Given the description of an element on the screen output the (x, y) to click on. 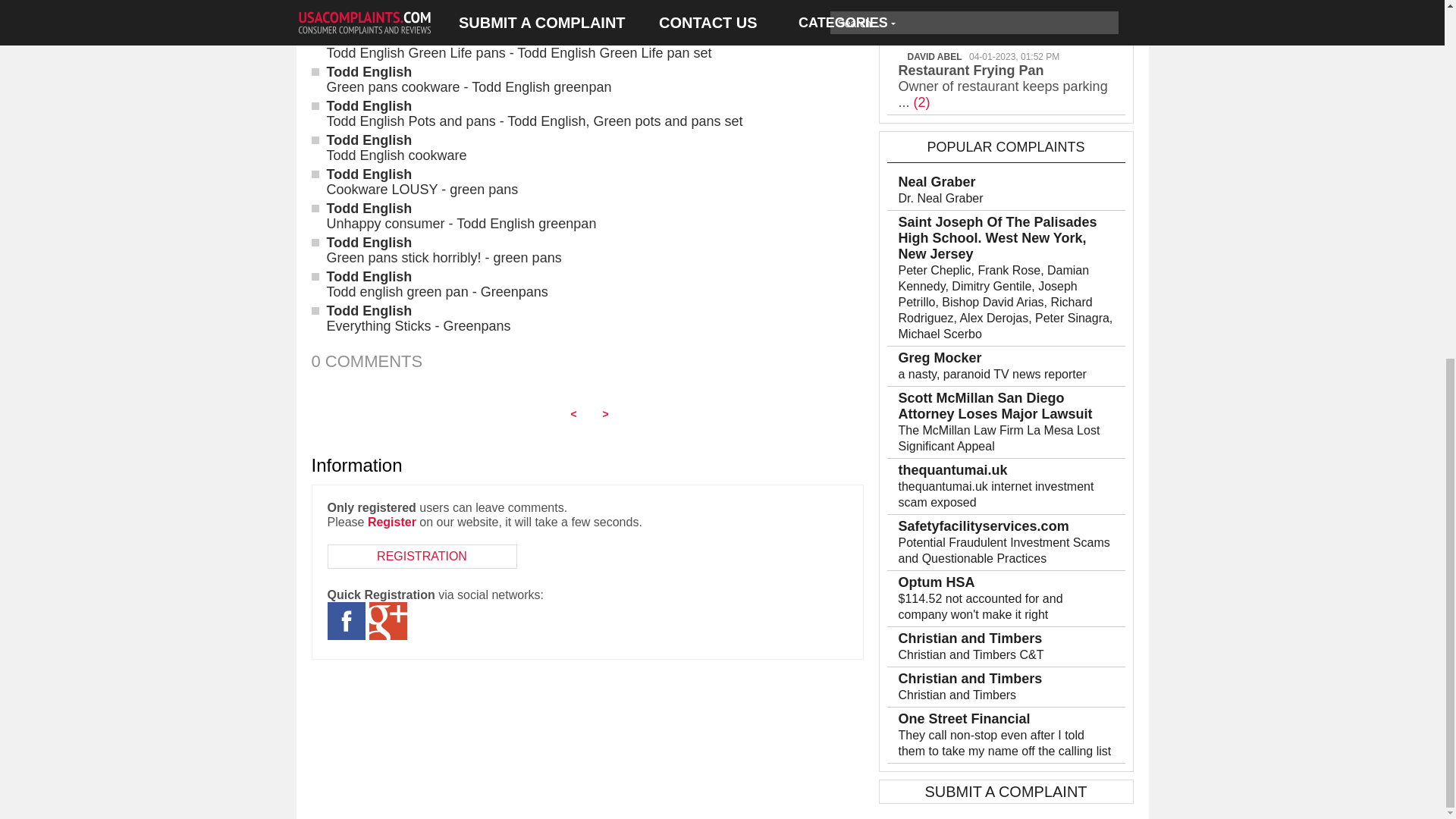
Login with Facebook (346, 620)
Login with Google (387, 620)
